Given the description of an element on the screen output the (x, y) to click on. 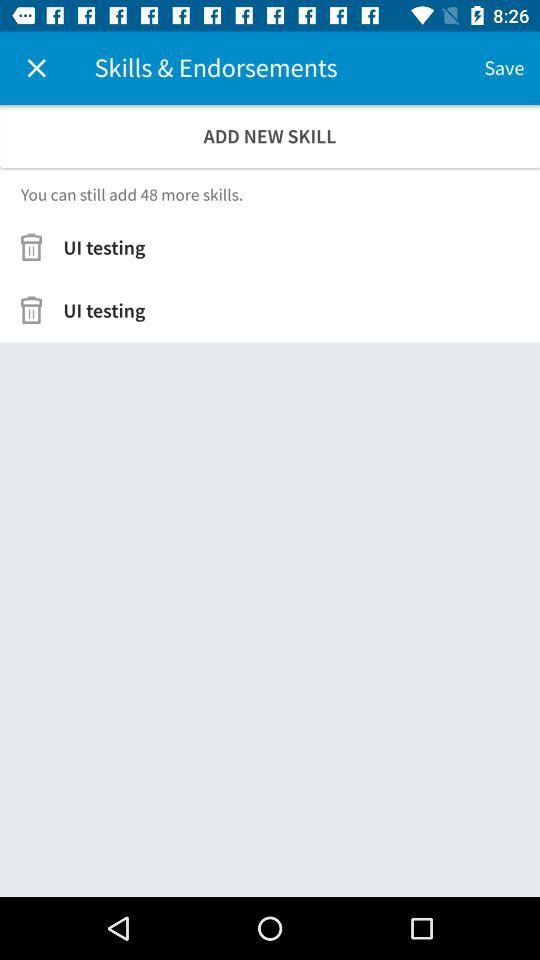
flip until the add new skill item (270, 136)
